Given the description of an element on the screen output the (x, y) to click on. 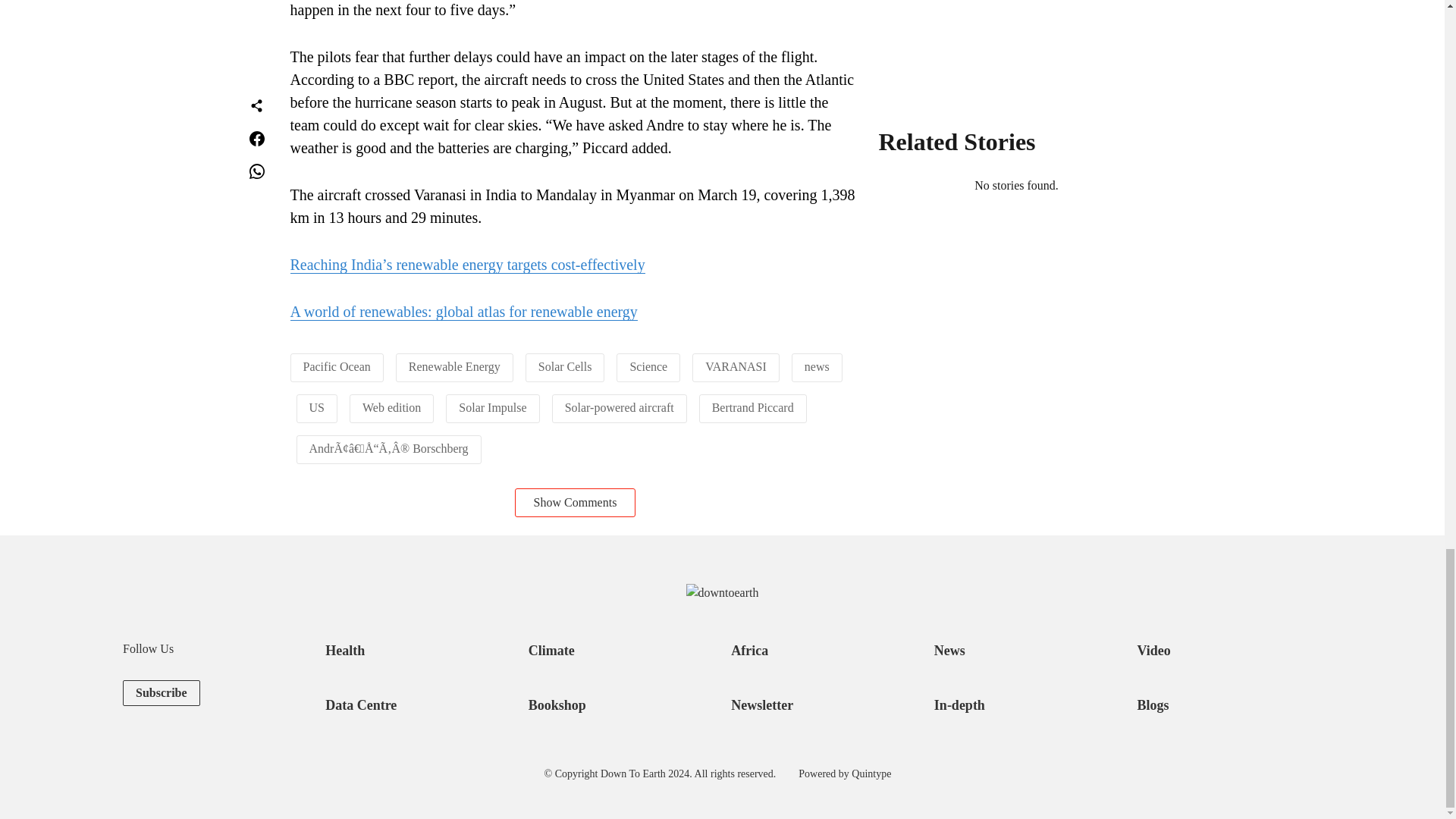
Renewable Energy (454, 366)
news (817, 366)
Solar Cells (565, 366)
US (316, 407)
Science (647, 366)
A world of renewables: global atlas for renewable energy (463, 312)
VARANASI (735, 366)
Pacific Ocean (336, 366)
